Given the description of an element on the screen output the (x, y) to click on. 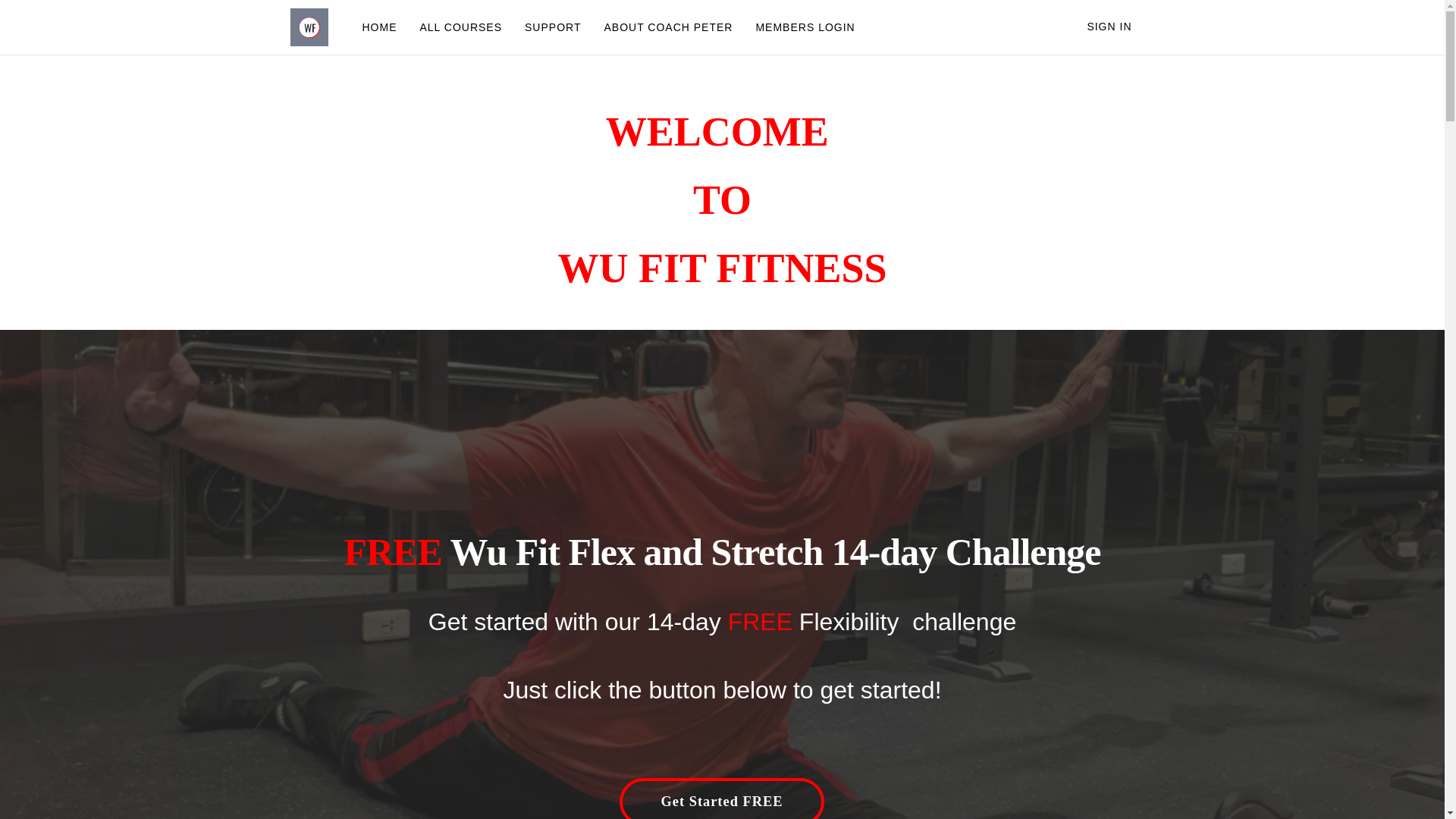
MEMBERS LOGIN (805, 27)
HOME (378, 27)
ABOUT COACH PETER (668, 27)
SUPPORT (552, 27)
ALL COURSES (460, 27)
SIGN IN (1108, 26)
Get Started FREE (722, 798)
